Given the description of an element on the screen output the (x, y) to click on. 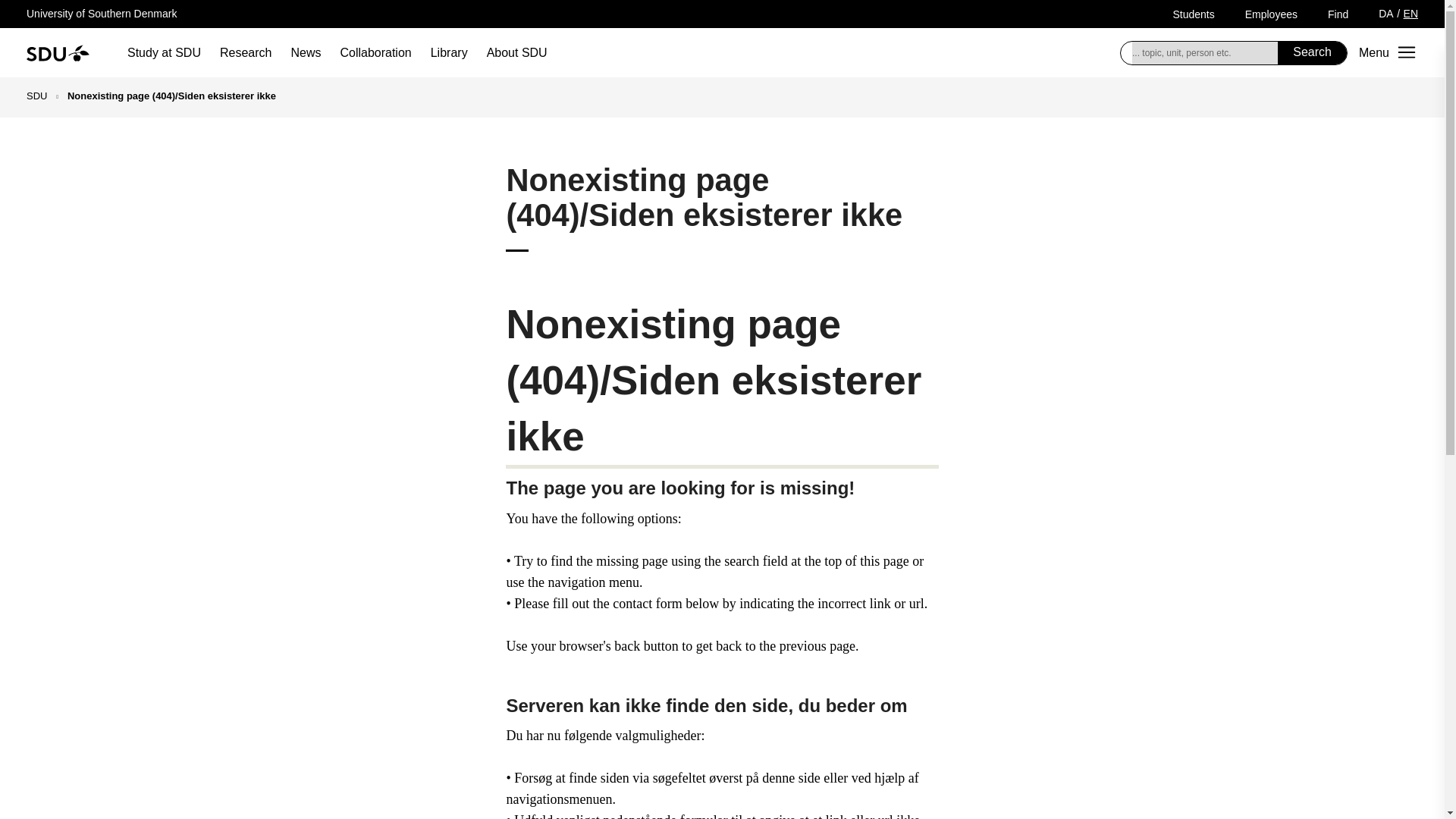
University of Southern Denmark (101, 13)
Employees (1270, 13)
DA (1385, 13)
University of Southern Denmark, SDU (57, 52)
Find (1337, 13)
EN (1410, 13)
Students (1193, 13)
